Given the description of an element on the screen output the (x, y) to click on. 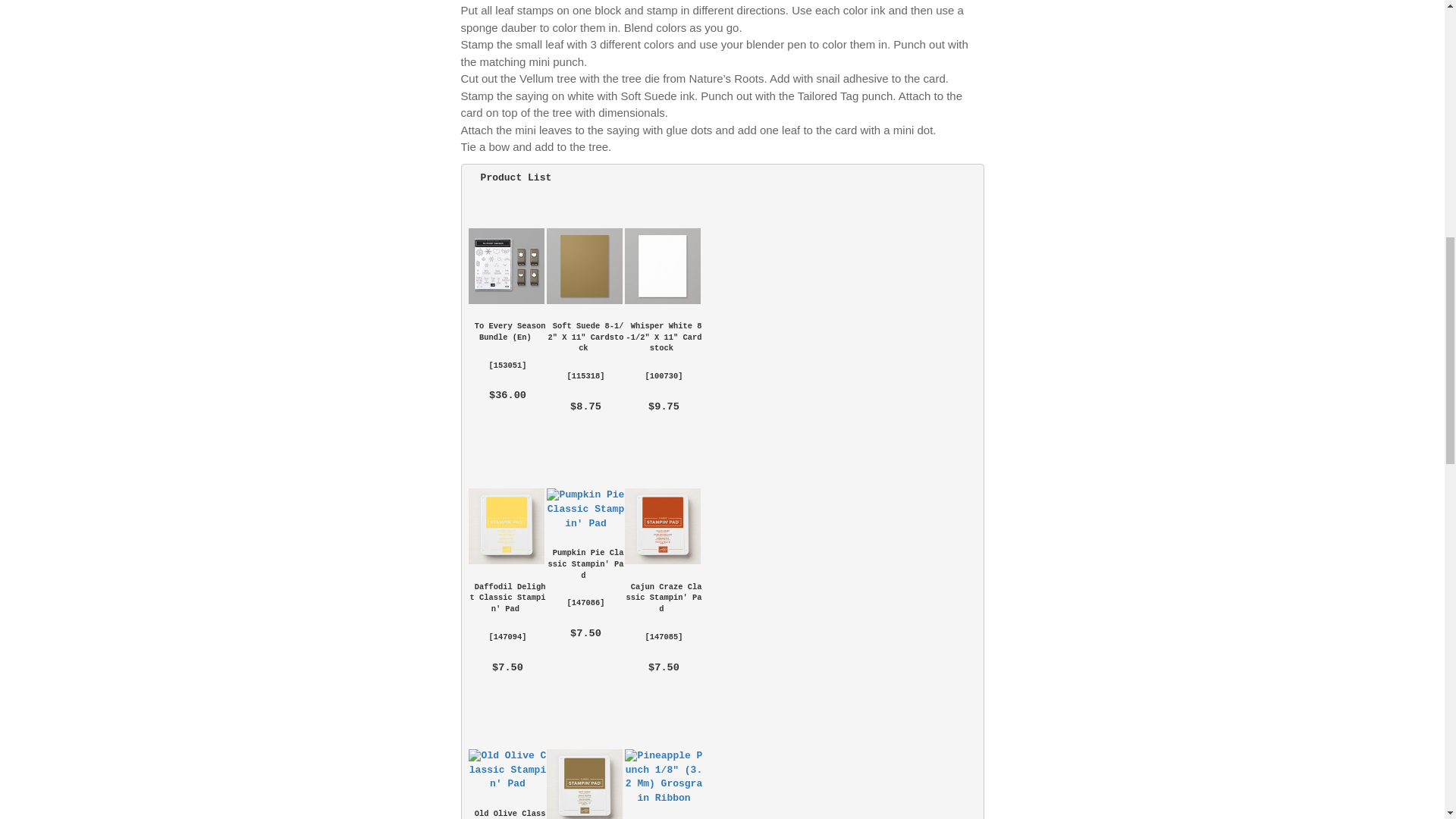
Daffodil Delight Classic Stampin' Pad (506, 526)
Pumpkin Pie Classic Stampin' Pad (586, 563)
Cajun Craze Classic Stampin' Pad (663, 597)
115318 (585, 375)
147094 (507, 636)
Daffodil Delight Classic Stampin' Pad (506, 526)
100730 (663, 375)
Old Olive Classic Stampin' Pad (508, 814)
153051 (507, 365)
147085 (663, 636)
147086 (585, 602)
Daffodil Delight Classic Stampin' Pad (508, 597)
